Given the description of an element on the screen output the (x, y) to click on. 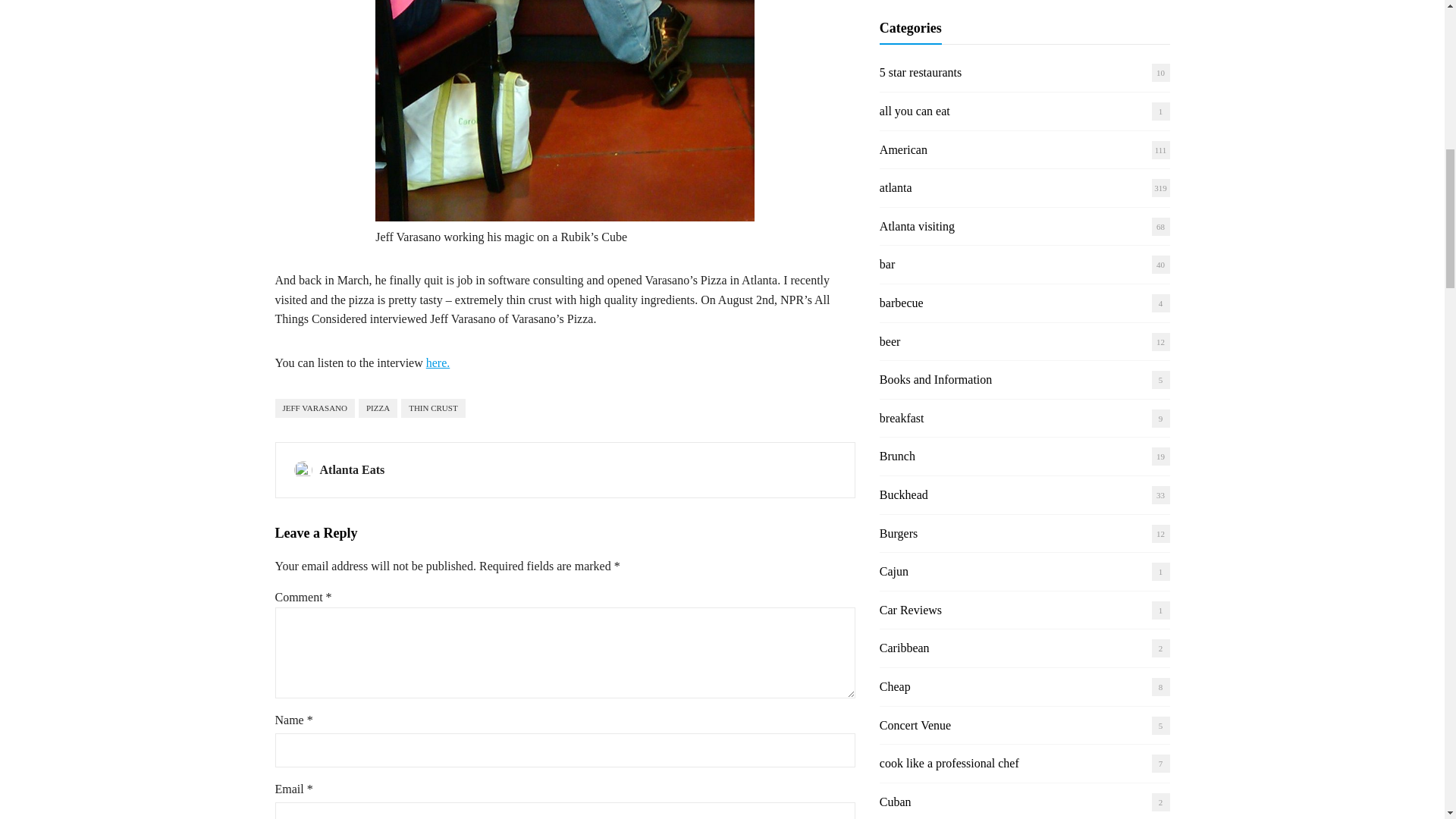
THIN CRUST (432, 408)
varasanos (564, 110)
American (903, 149)
atlanta (895, 187)
bar (887, 264)
Atlanta visiting (917, 226)
JEFF VARASANO (315, 408)
PIZZA (377, 408)
5 star restaurants (919, 72)
here. (437, 362)
